Given the description of an element on the screen output the (x, y) to click on. 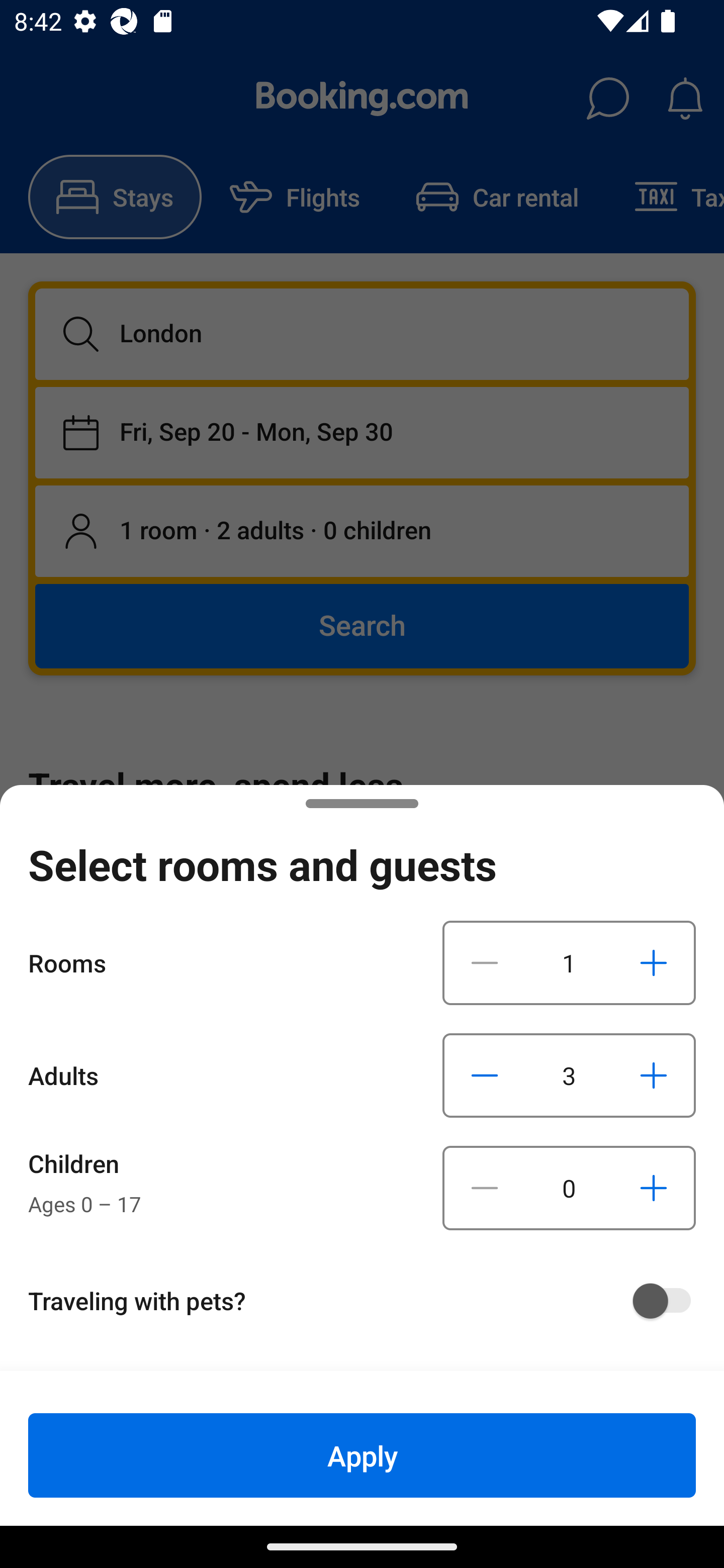
Decrease (484, 962)
Increase (653, 962)
Decrease (484, 1075)
Increase (653, 1075)
Decrease (484, 1188)
Increase (653, 1188)
Traveling with pets? (369, 1300)
Apply (361, 1454)
